Given the description of an element on the screen output the (x, y) to click on. 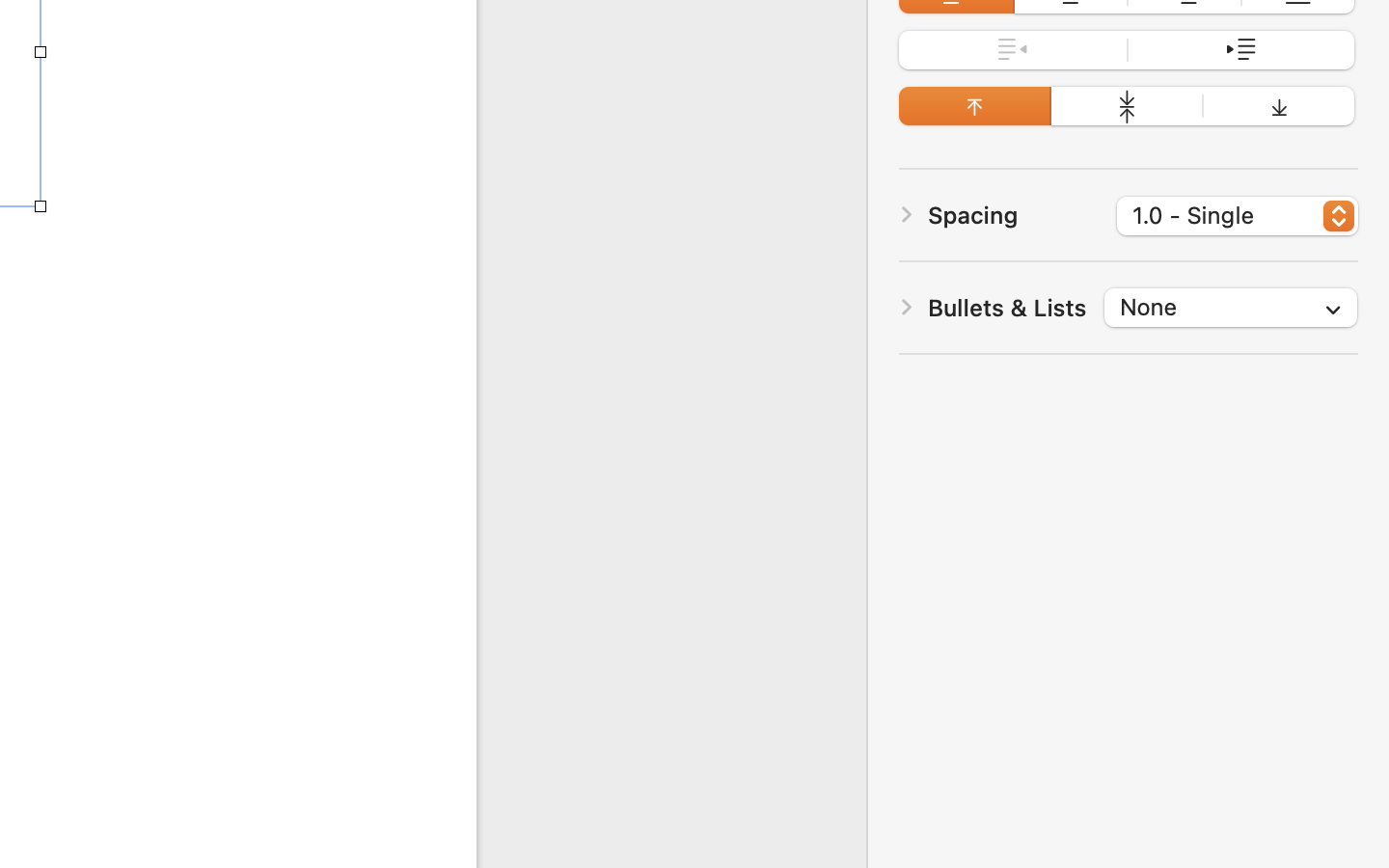
Bullets & Lists Element type: AXStaticText (1006, 307)
1.0 - Single Element type: AXPopUpButton (1238, 218)
